Given the description of an element on the screen output the (x, y) to click on. 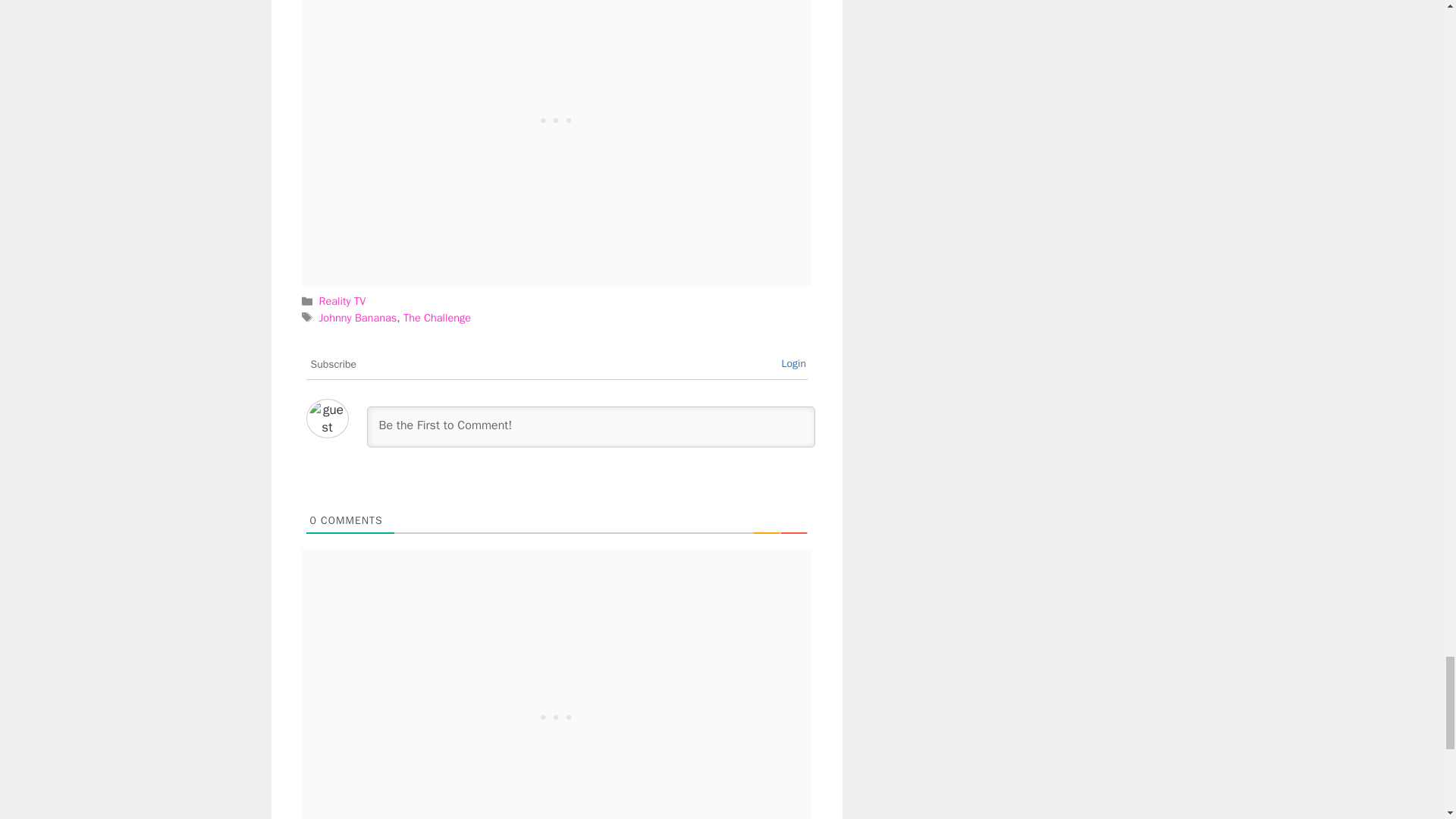
Reality TV (342, 300)
The Challenge (436, 317)
Johnny Bananas (357, 317)
Login (793, 363)
